Given the description of an element on the screen output the (x, y) to click on. 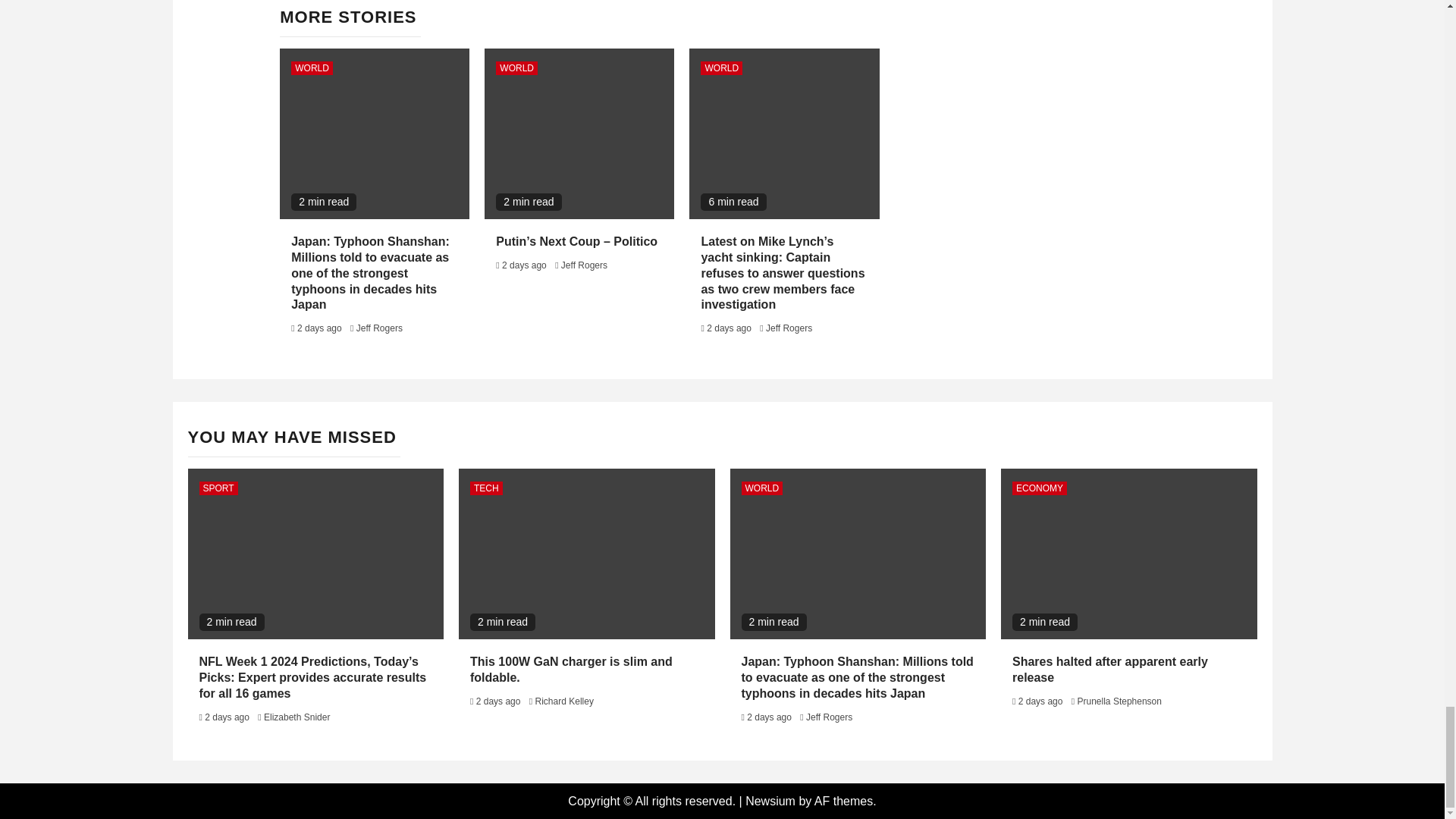
WORLD (312, 68)
Jeff Rogers (583, 265)
Jeff Rogers (379, 327)
WORLD (516, 68)
